Given the description of an element on the screen output the (x, y) to click on. 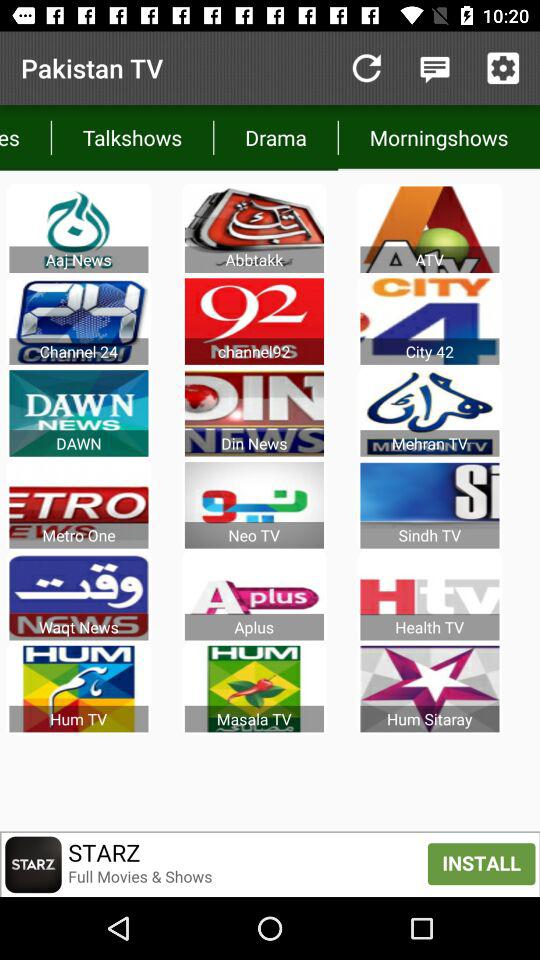
install starz app (270, 864)
